Given the description of an element on the screen output the (x, y) to click on. 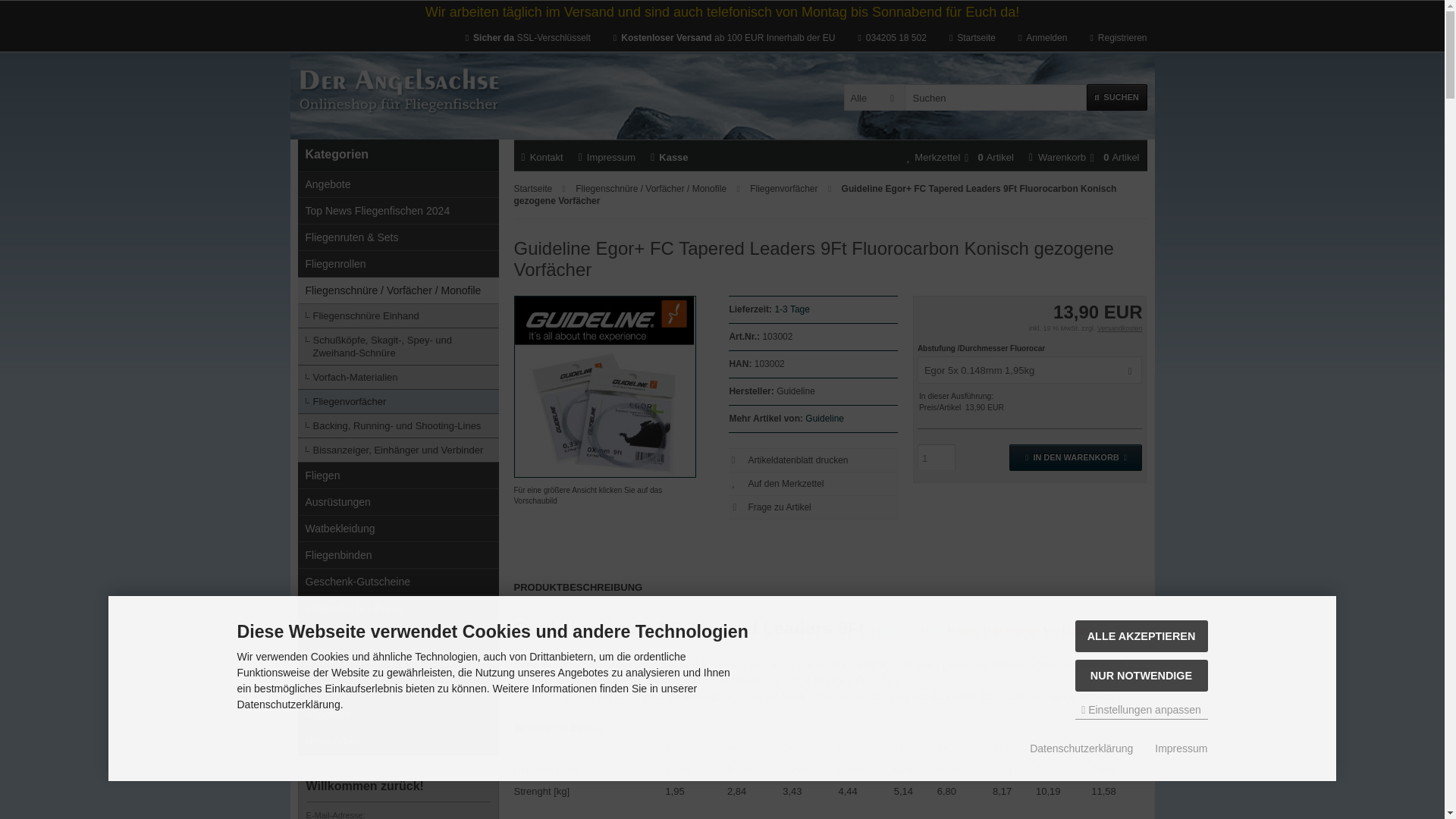
Guideline (824, 418)
Anmelden (1042, 37)
Information (791, 308)
Startseite (533, 188)
Kasse (668, 156)
Auf den Merkzettel (831, 483)
Kontakt (542, 156)
Startseite (528, 37)
Versandkosten (1119, 328)
1-3 Tage (791, 308)
Information (1119, 328)
submit (16, 7)
Startseite (972, 37)
1 (936, 457)
 Alle (873, 97)
